Given the description of an element on the screen output the (x, y) to click on. 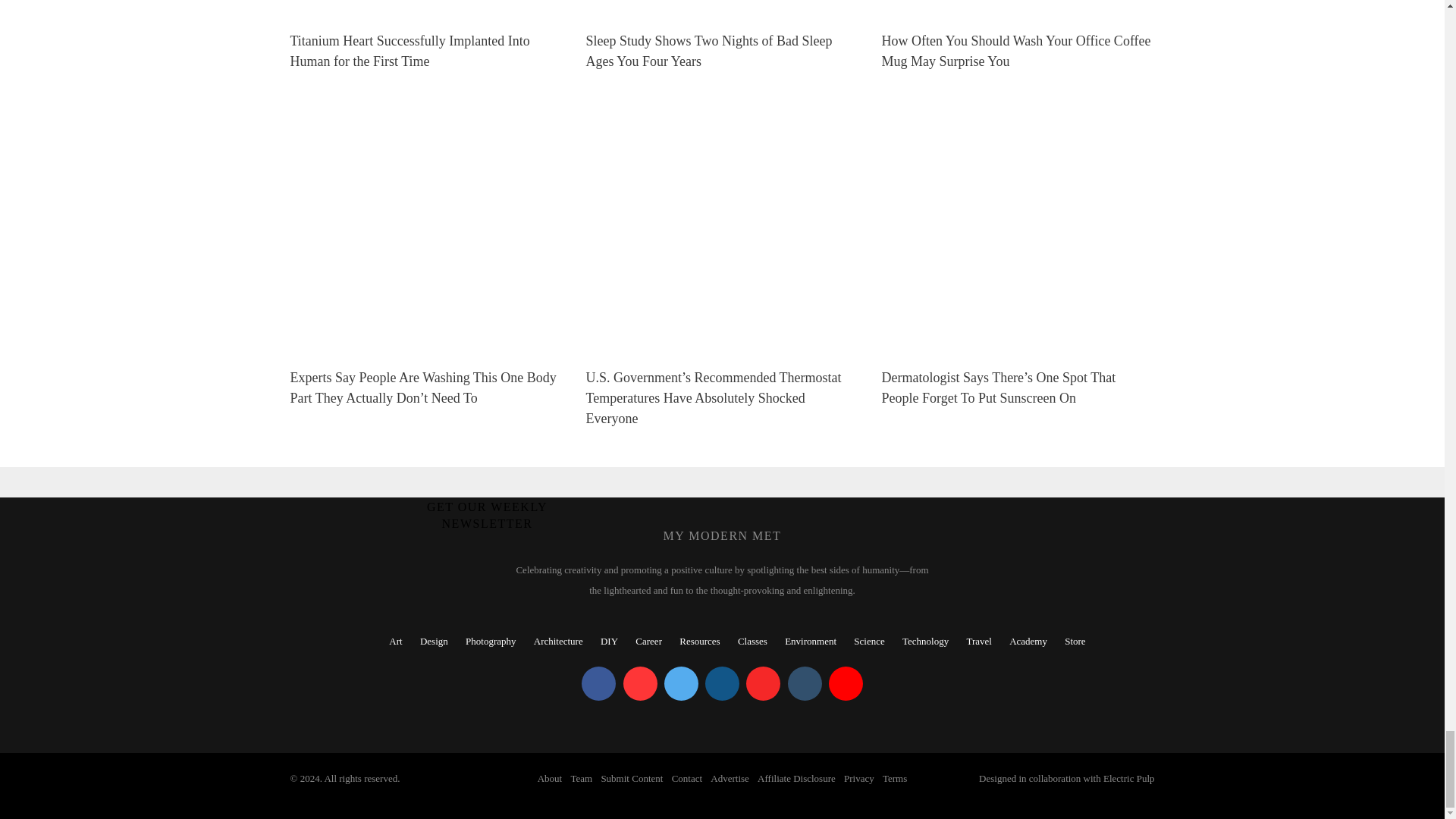
My Modern Met on YouTube (845, 683)
My Modern Met on Twitter (680, 683)
My Modern Met on Pinterest (640, 683)
My Modern Met on Tumblr (804, 683)
My Modern Met on Instagram (721, 683)
My Modern Met on Facebook (597, 683)
